Given the description of an element on the screen output the (x, y) to click on. 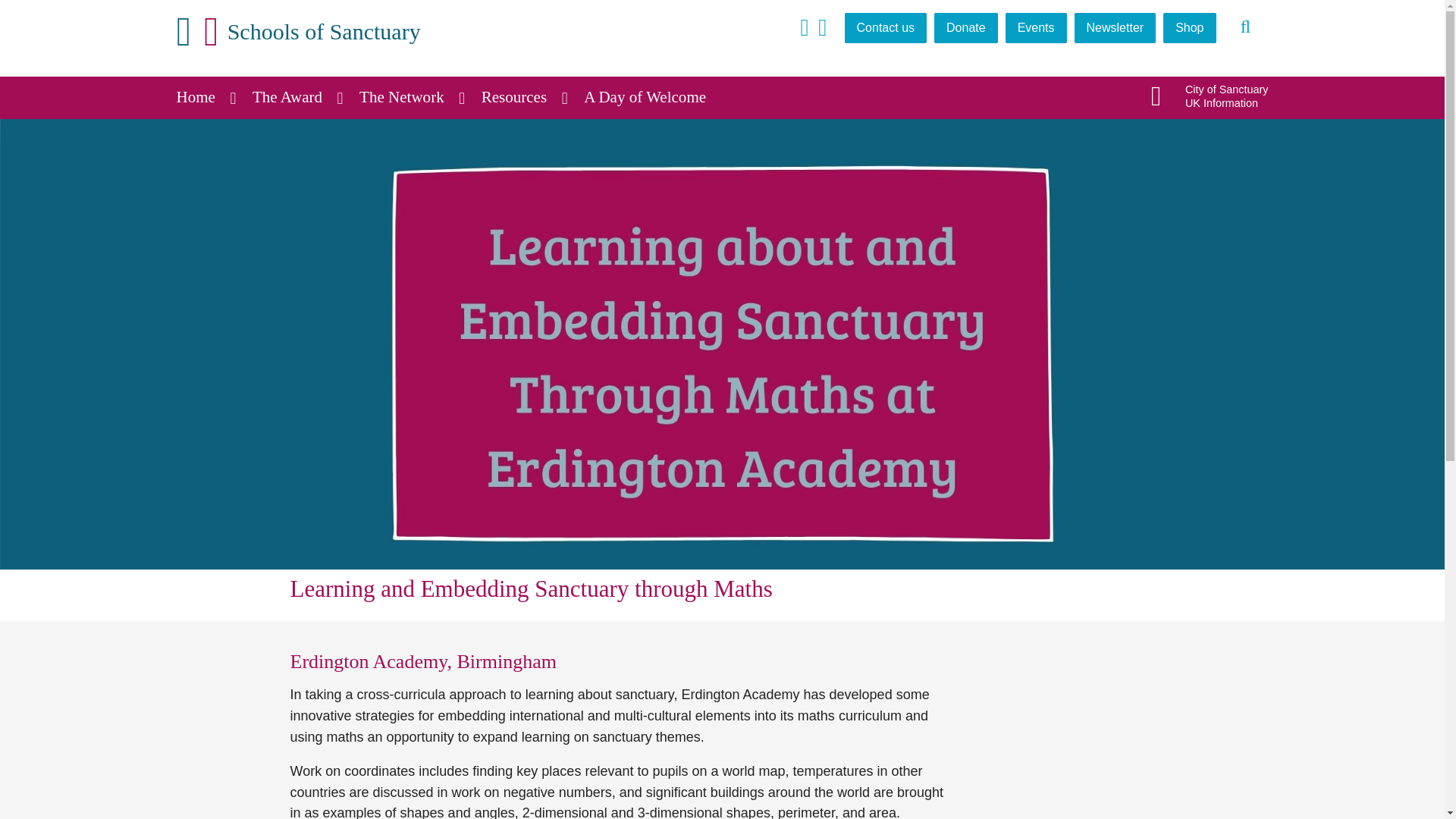
Search (1246, 27)
Newsletter (1115, 28)
Shop (1189, 28)
A Day of Welcome (654, 97)
The Network (411, 97)
Contact us (885, 28)
The Award (296, 97)
Schools of Sanctuary (298, 31)
Events (1036, 28)
Donate (965, 28)
Home (205, 97)
Resources (524, 97)
